Given the description of an element on the screen output the (x, y) to click on. 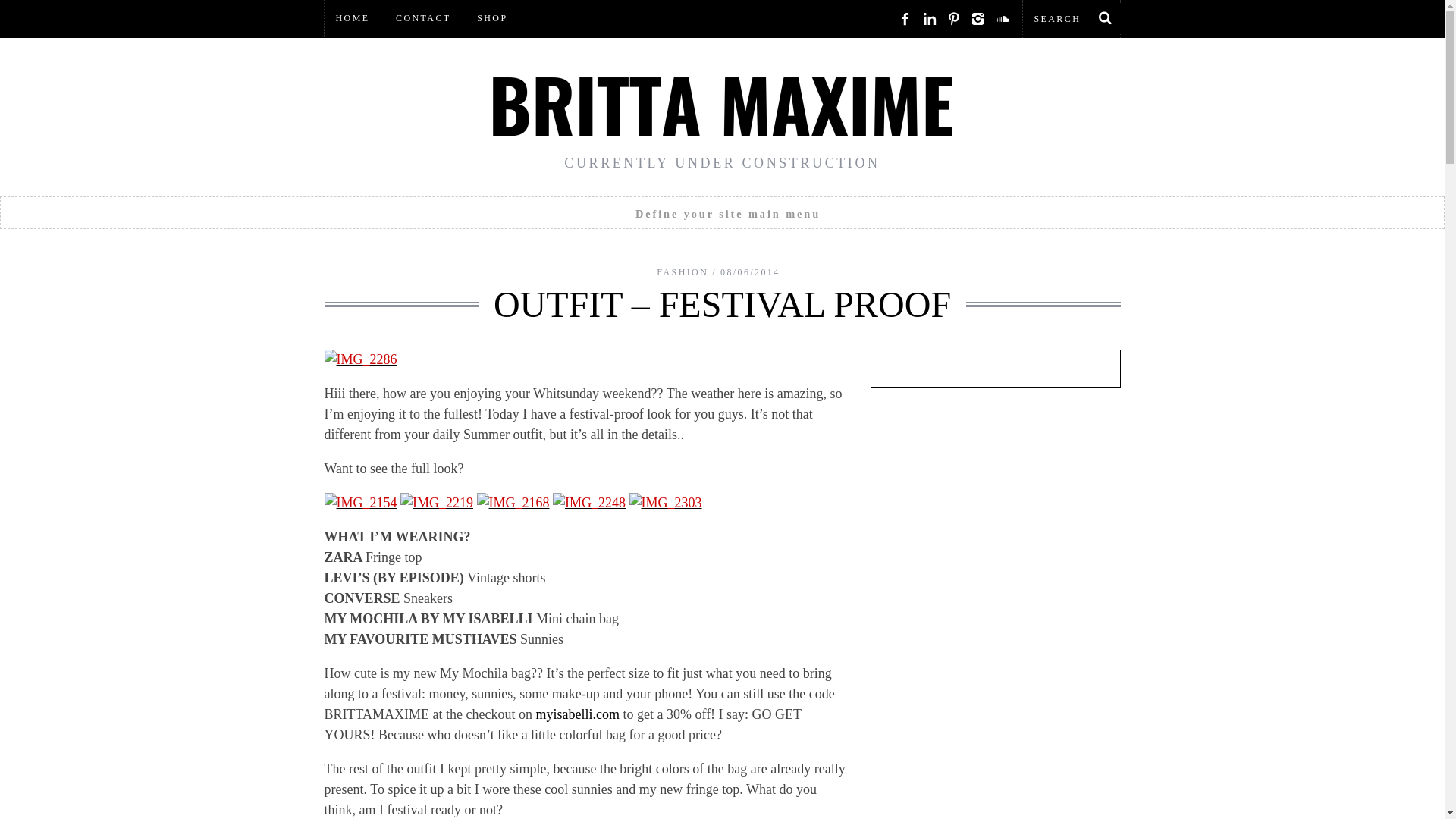
CONTACT (423, 18)
HOME (352, 18)
SHOP (491, 18)
Search (1071, 18)
myisabelli.com (576, 713)
myisabelli.com (576, 713)
